Given the description of an element on the screen output the (x, y) to click on. 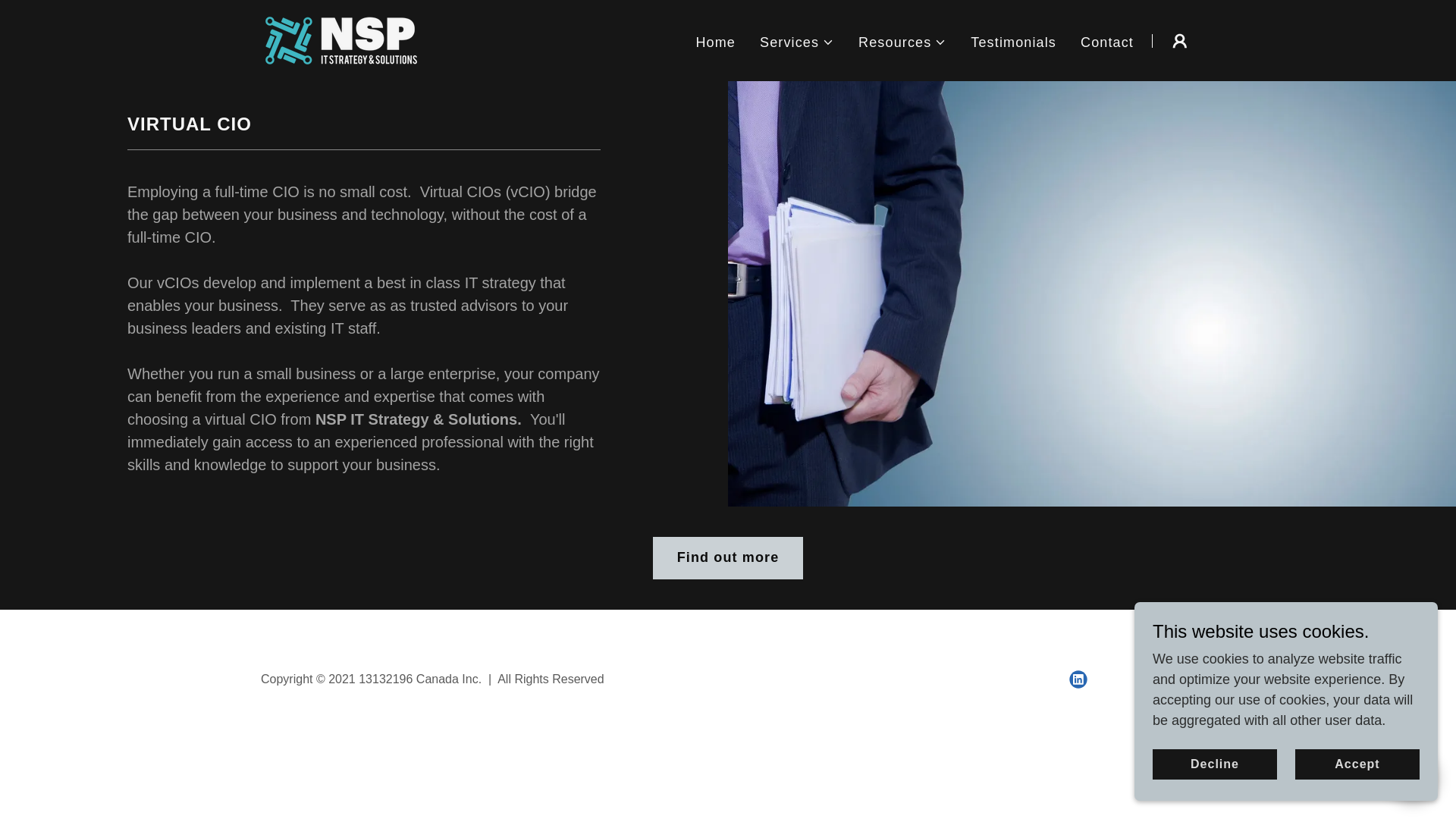
Services (797, 41)
Home (714, 41)
Resources (902, 41)
NSP IT Strategy and Solutions (341, 38)
Testimonials (1013, 41)
Contact (1106, 41)
